Given the description of an element on the screen output the (x, y) to click on. 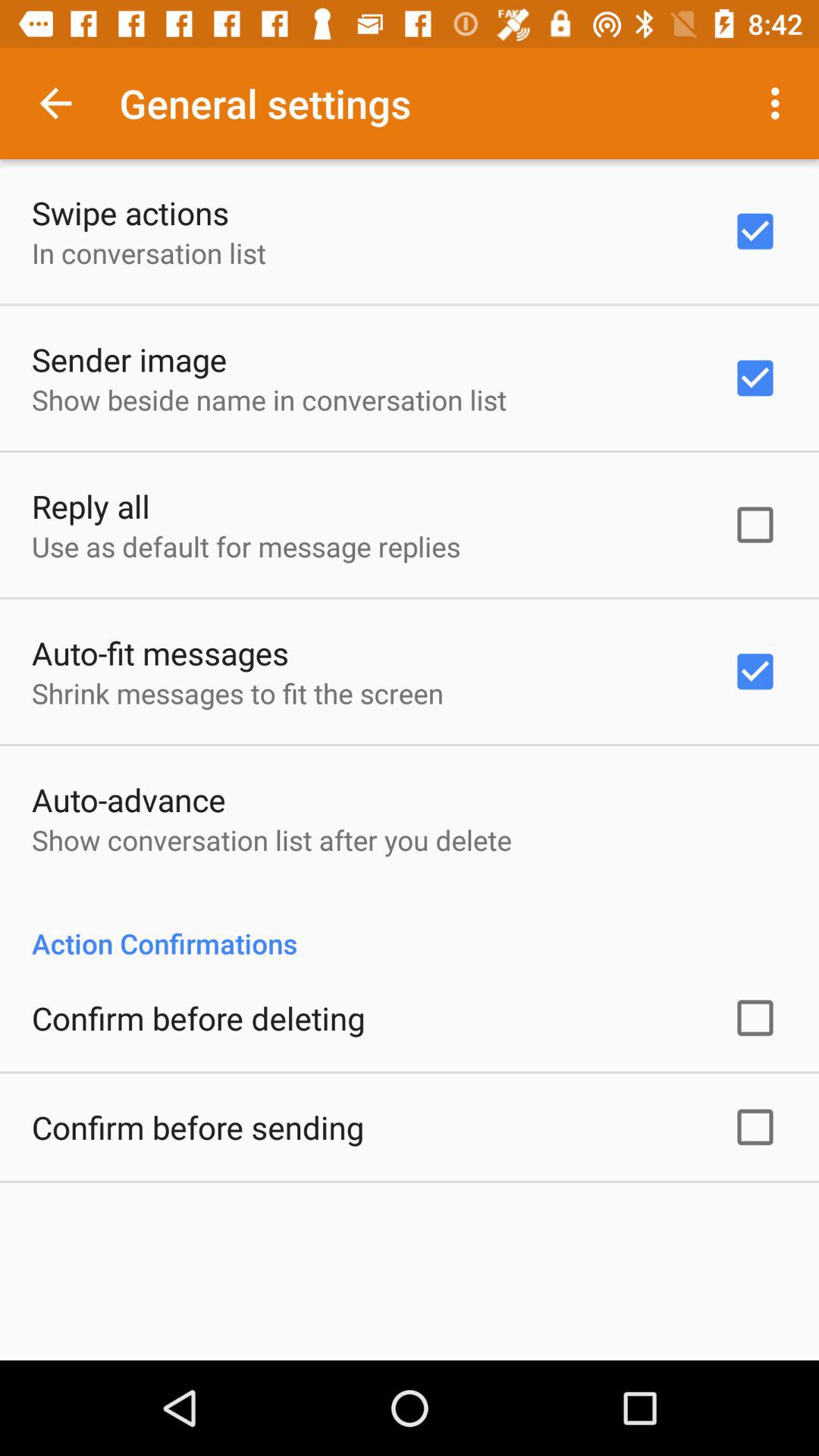
choose app above the show conversation list item (128, 799)
